Given the description of an element on the screen output the (x, y) to click on. 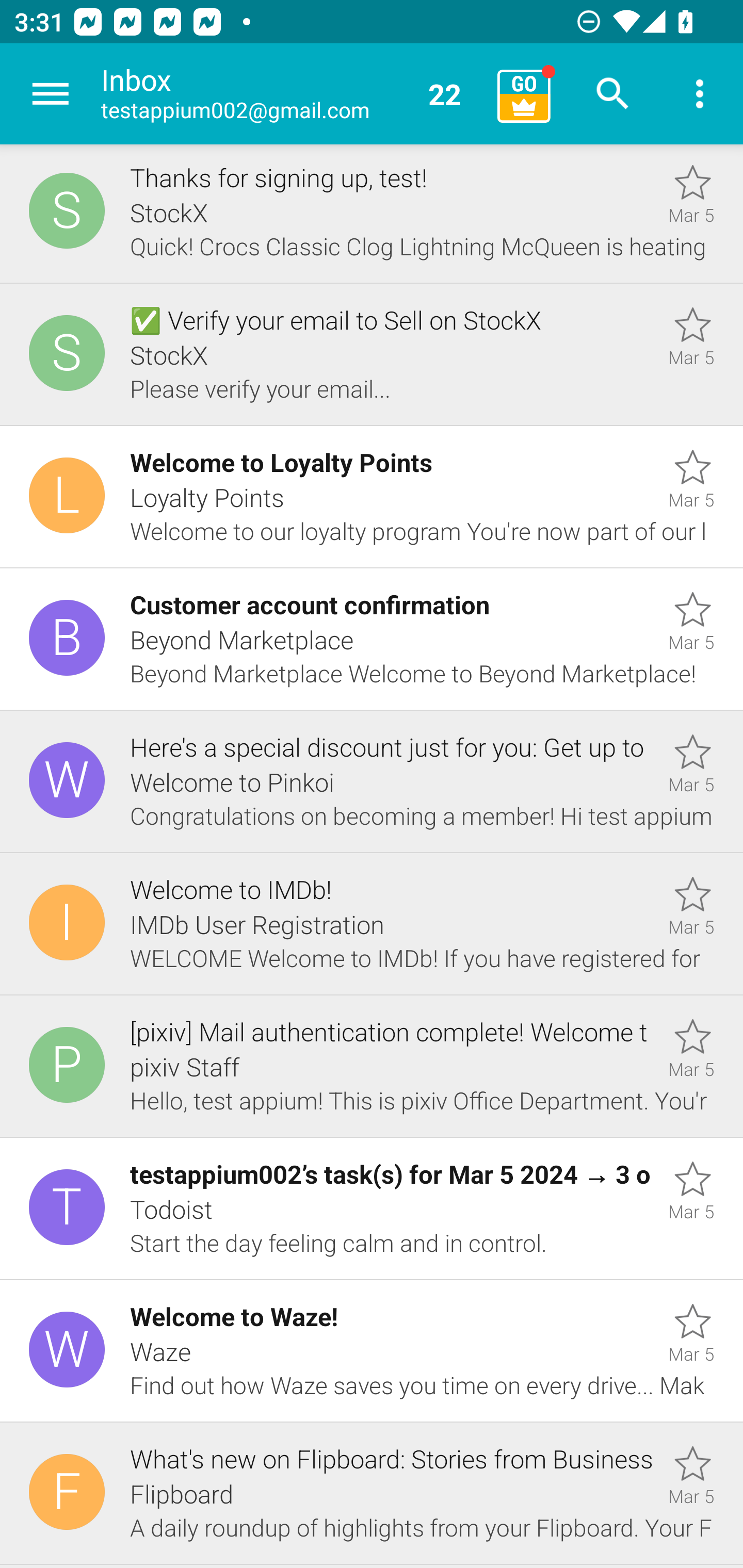
Navigate up (50, 93)
Inbox testappium002@gmail.com 22 (291, 93)
Search (612, 93)
More options (699, 93)
